Given the description of an element on the screen output the (x, y) to click on. 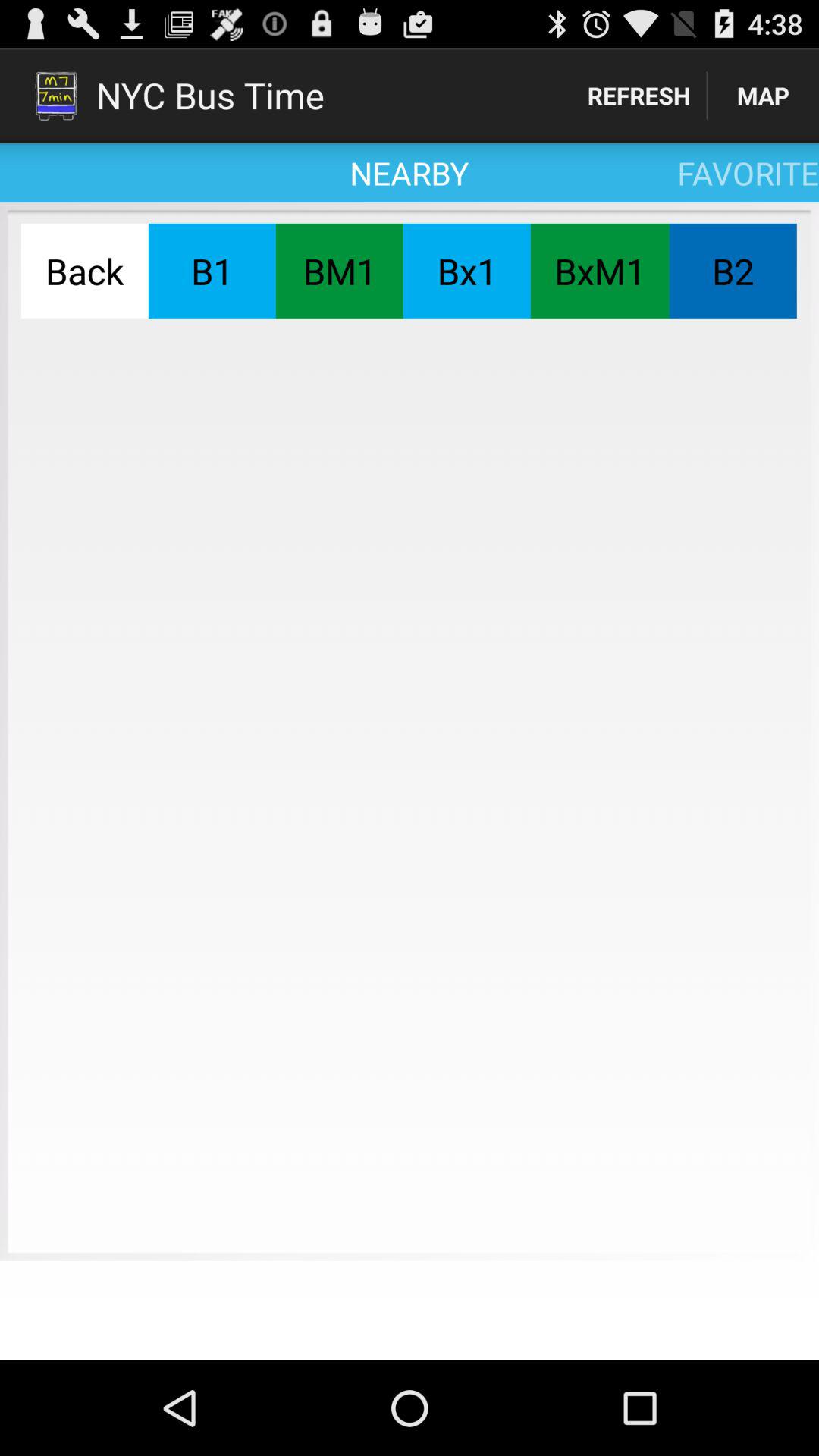
jump until the map icon (763, 95)
